Given the description of an element on the screen output the (x, y) to click on. 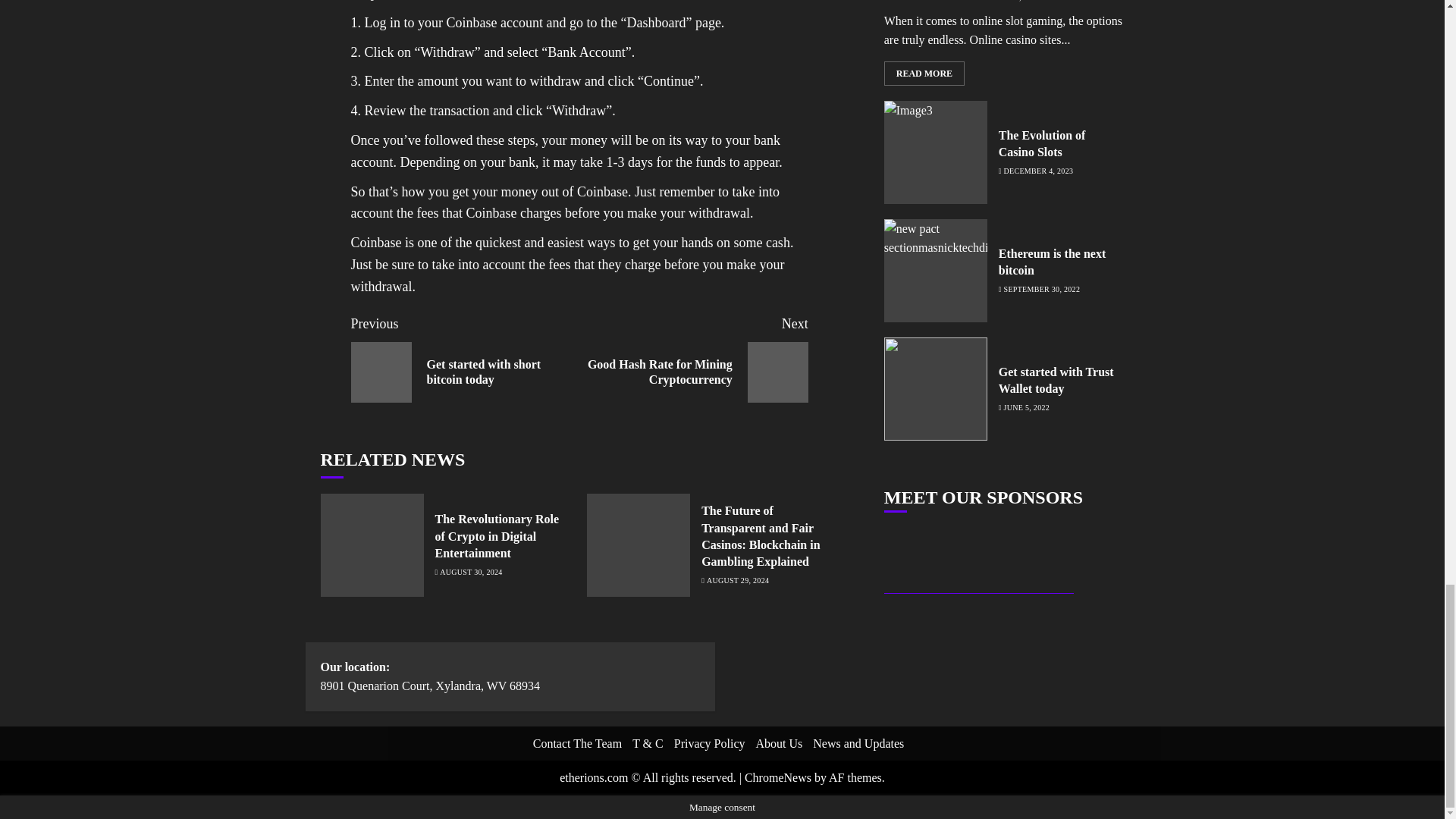
AUGUST 30, 2024 (470, 572)
AUGUST 29, 2024 (464, 357)
The Revolutionary Role of Crypto in Digital Entertainment (737, 580)
